Given the description of an element on the screen output the (x, y) to click on. 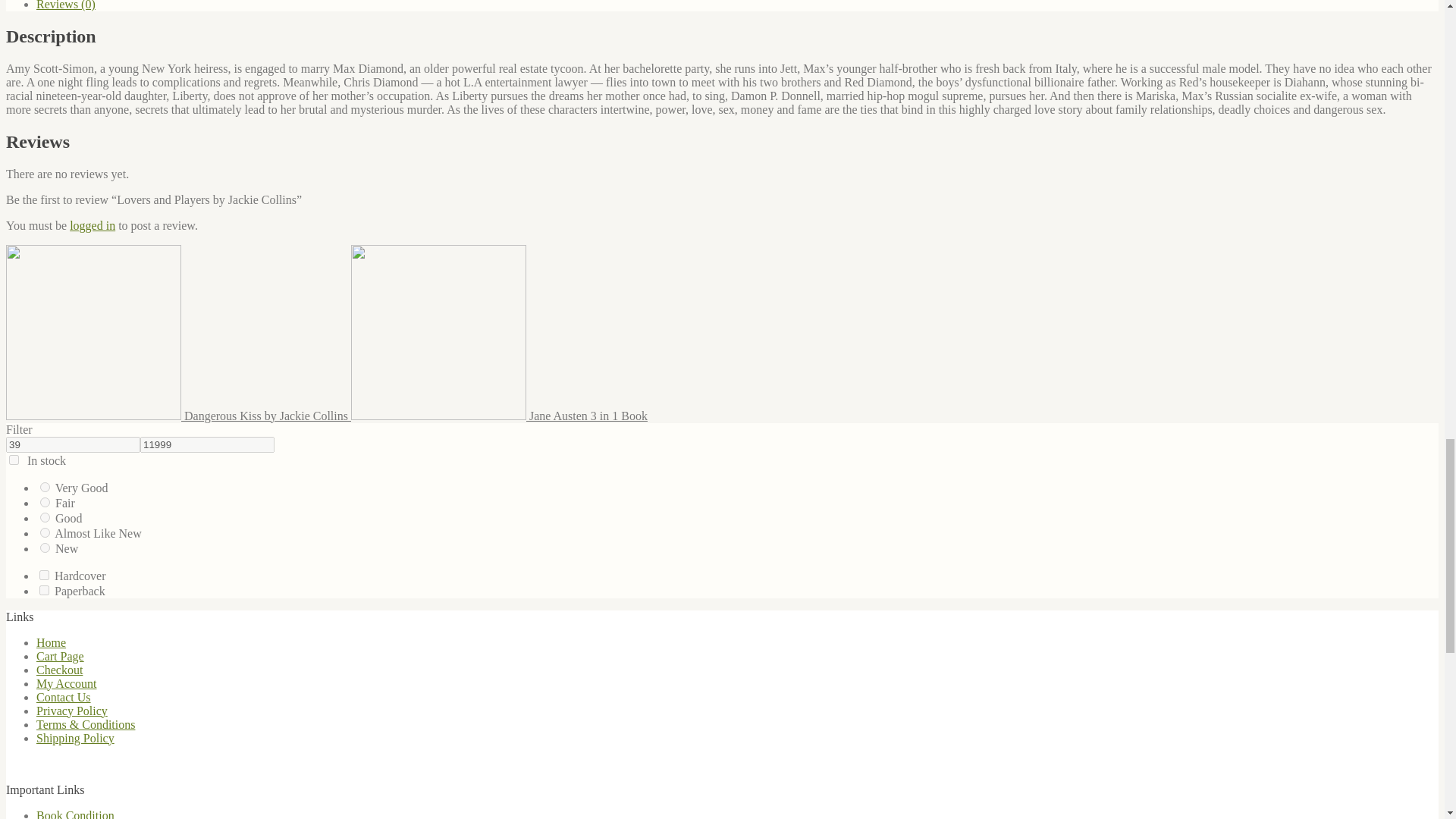
459 (44, 574)
11999 (207, 444)
464 (44, 547)
467 (44, 517)
0 (13, 460)
23574 (44, 532)
458 (44, 590)
39 (72, 444)
466 (44, 487)
3077 (44, 501)
